Given the description of an element on the screen output the (x, y) to click on. 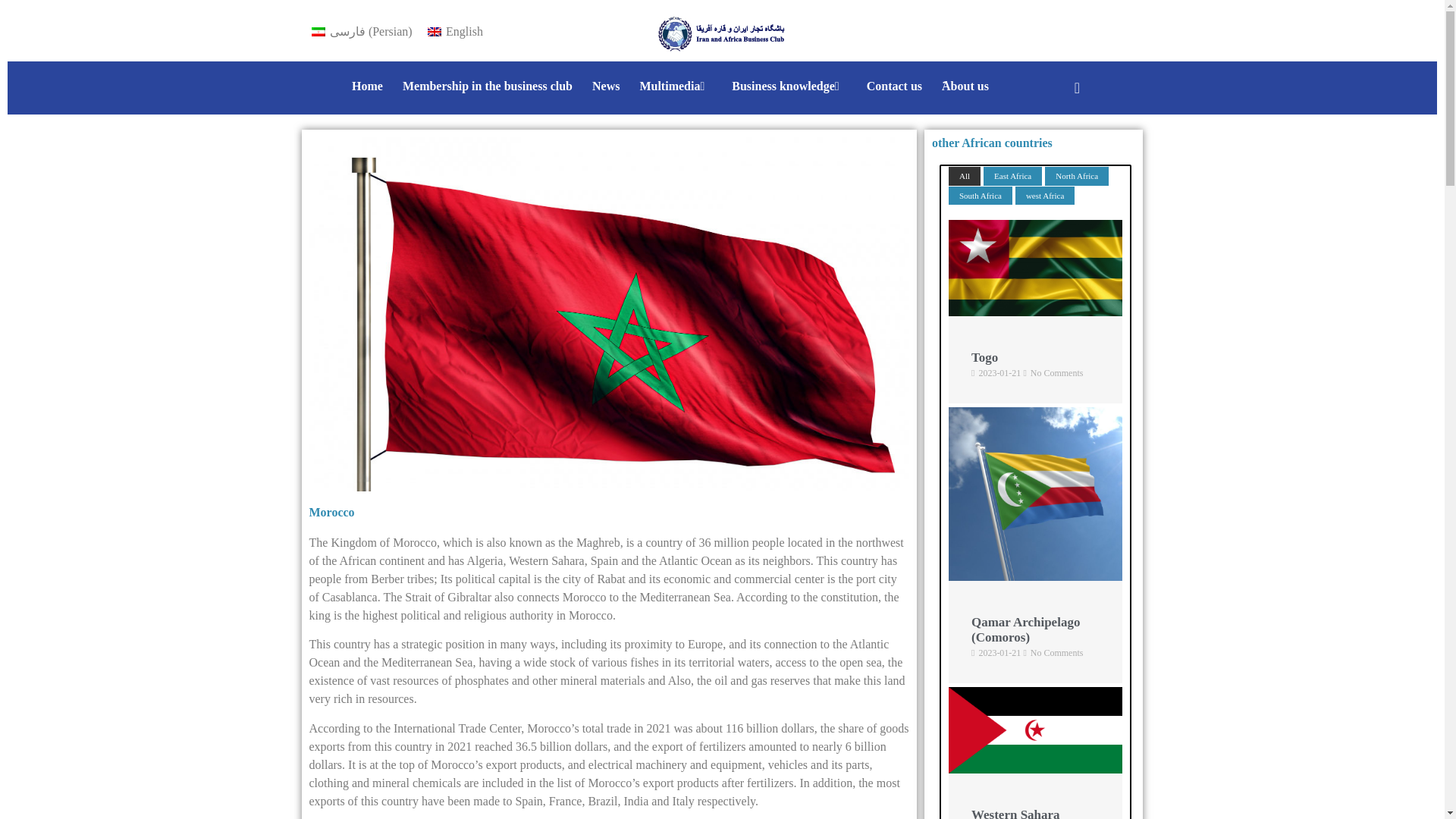
English (455, 31)
News (605, 86)
Togo (1035, 311)
Business knowledge (789, 86)
Multimedia (675, 86)
Membership in the business club (487, 86)
Home (367, 86)
Western Sahara (1035, 768)
